Given the description of an element on the screen output the (x, y) to click on. 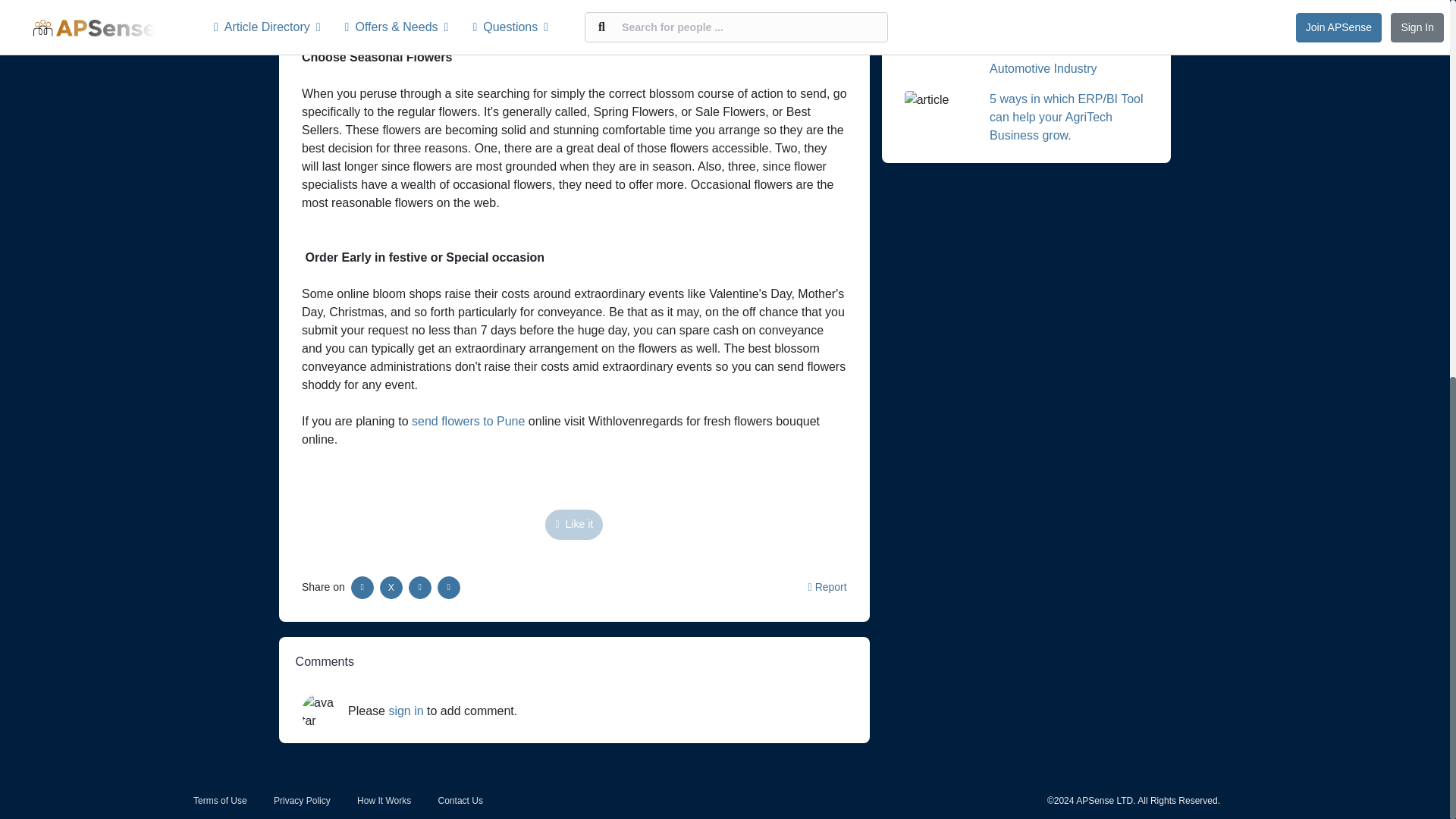
sign in (405, 710)
X (391, 587)
send flowers to Pune (468, 420)
Report (827, 586)
Like it (573, 523)
send flowers to Pune (468, 420)
